Given the description of an element on the screen output the (x, y) to click on. 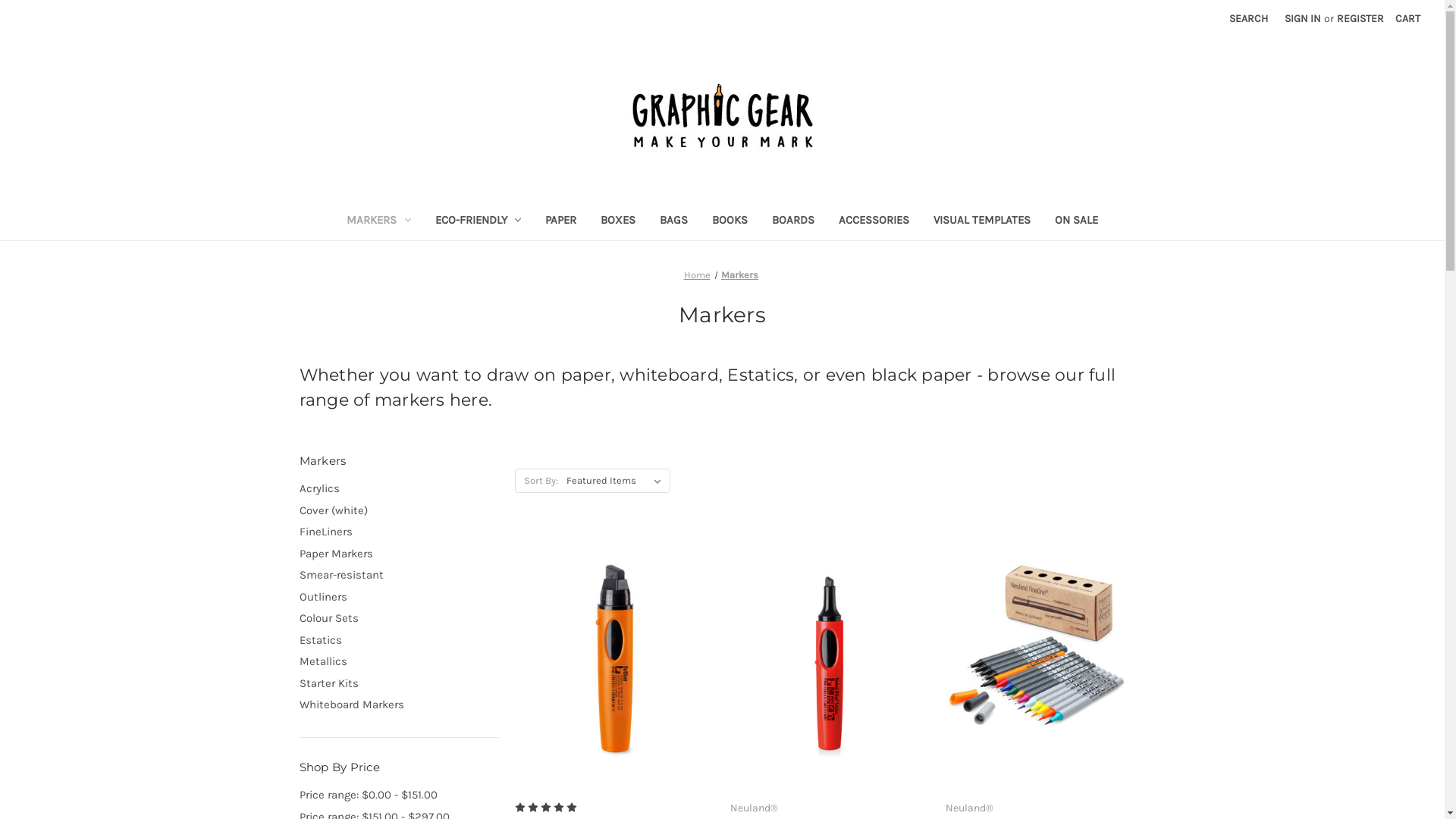
CART Element type: text (1407, 18)
BOXES Element type: text (617, 221)
Estatics Element type: text (398, 640)
REGISTER Element type: text (1360, 18)
Colour Sets Element type: text (398, 618)
Smear-resistant Element type: text (398, 575)
Price range: $0.00 - $151.00 Element type: text (398, 795)
ACCESSORIES Element type: text (873, 221)
Paper Markers Element type: text (398, 553)
MARKERS Element type: text (378, 221)
BOARDS Element type: text (792, 221)
Graphic Gear Element type: hover (722, 117)
PAPER Element type: text (560, 221)
Acrylics Element type: text (398, 488)
FineLiners Element type: text (398, 531)
SEARCH Element type: text (1248, 18)
ECO-FRIENDLY Element type: text (478, 221)
Starter Kits Element type: text (398, 683)
BOOKS Element type: text (729, 221)
Home Element type: text (697, 274)
SIGN IN Element type: text (1302, 18)
Cover (white) Element type: text (398, 510)
VISUAL TEMPLATES Element type: text (981, 221)
Outliners Element type: text (398, 597)
Whiteboard Markers Element type: text (398, 704)
Metallics Element type: text (398, 661)
BAGS Element type: text (673, 221)
Markers Element type: text (739, 274)
ON SALE Element type: text (1076, 221)
